Given the description of an element on the screen output the (x, y) to click on. 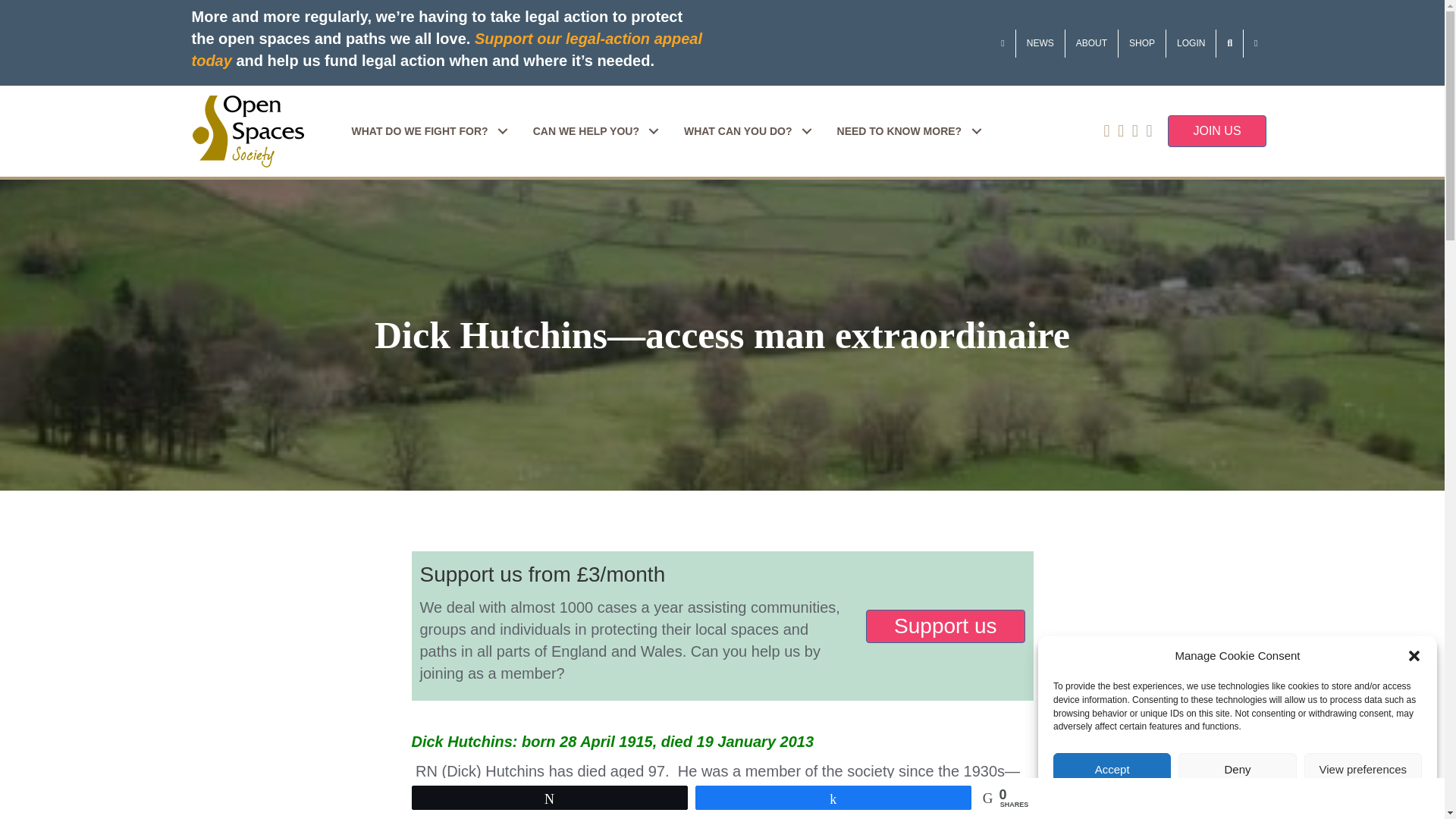
SHOP (1142, 43)
ABOUT (1091, 43)
LOGIN (1190, 43)
Open Spaces Society Logo (247, 131)
Search (1229, 43)
Support our legal-action appeal today (445, 49)
NEWS (1040, 43)
